Given the description of an element on the screen output the (x, y) to click on. 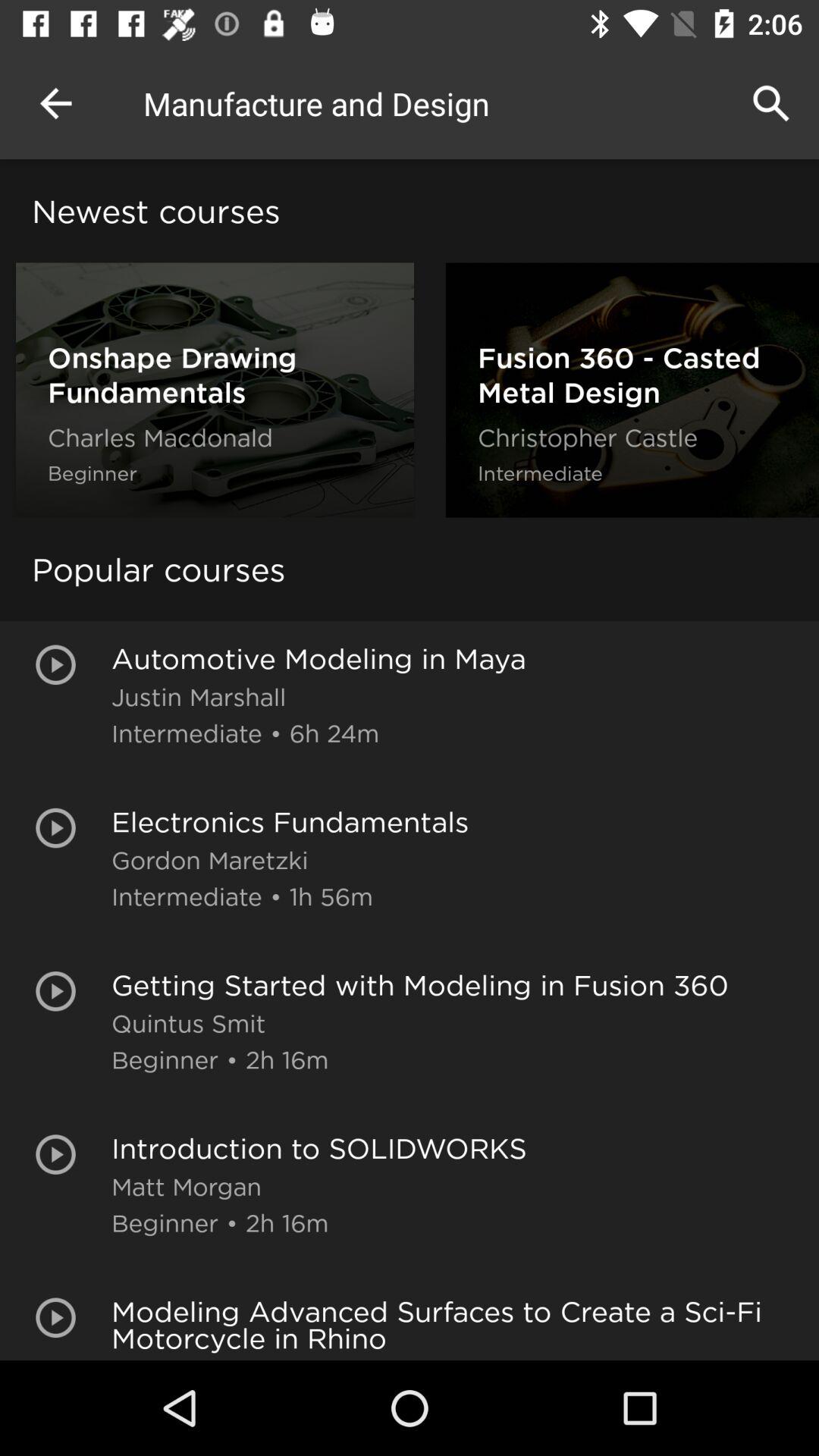
launch icon next to the manufacture and design (55, 103)
